Given the description of an element on the screen output the (x, y) to click on. 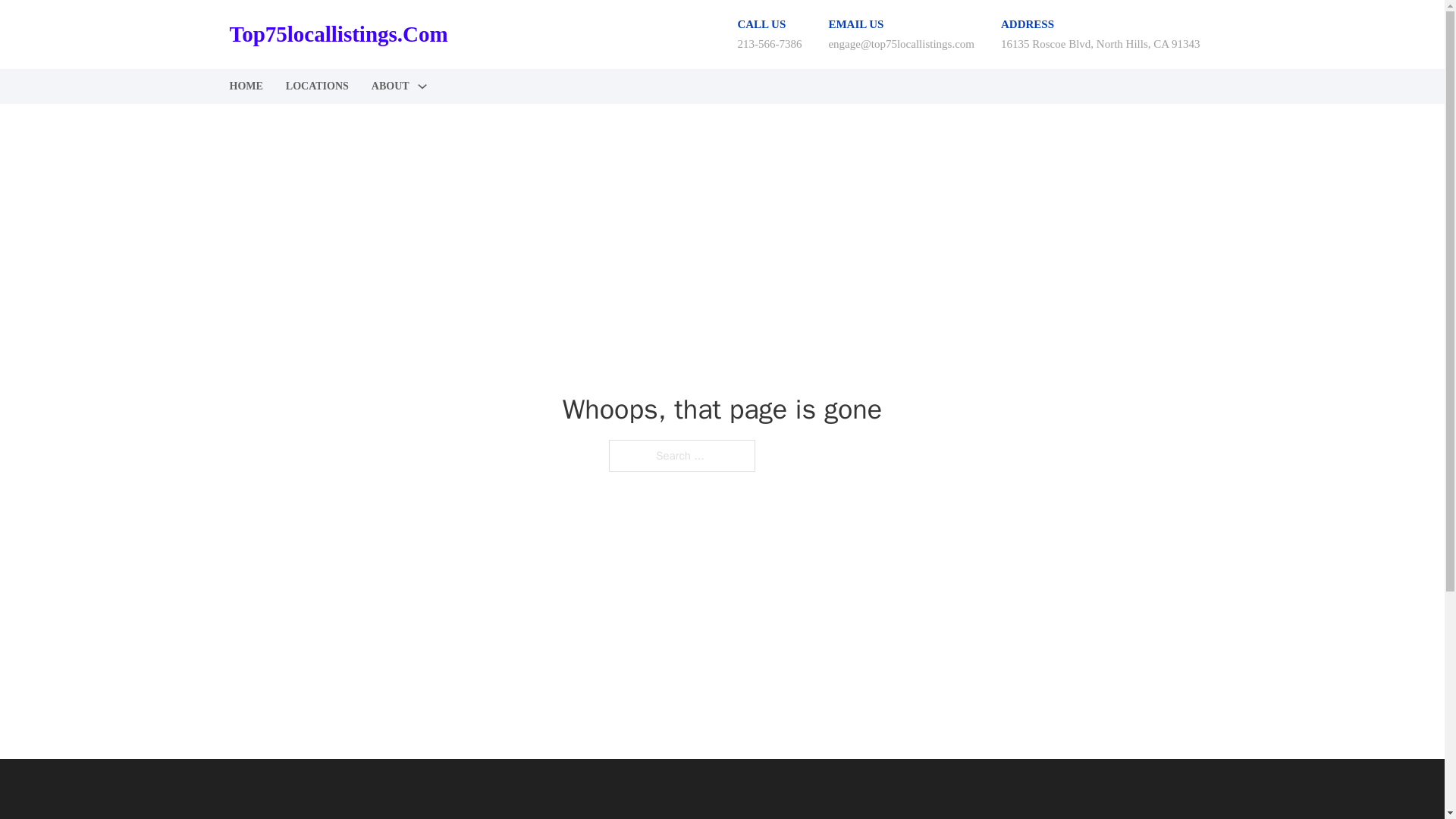
LOCATIONS (317, 85)
HOME (245, 85)
213-566-7386 (769, 43)
Top75locallistings.Com (337, 34)
